Given the description of an element on the screen output the (x, y) to click on. 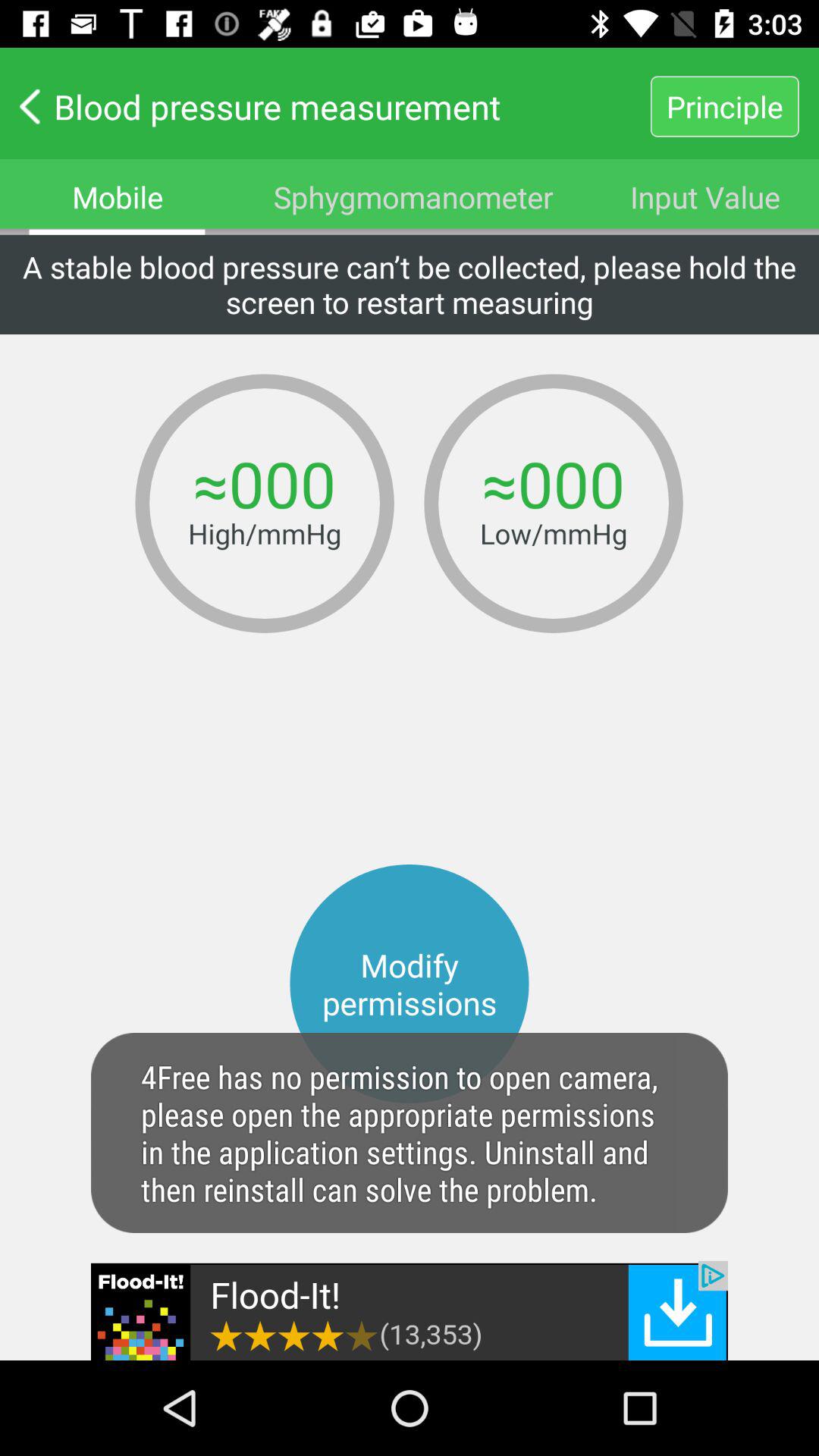
select the add (409, 1310)
